Given the description of an element on the screen output the (x, y) to click on. 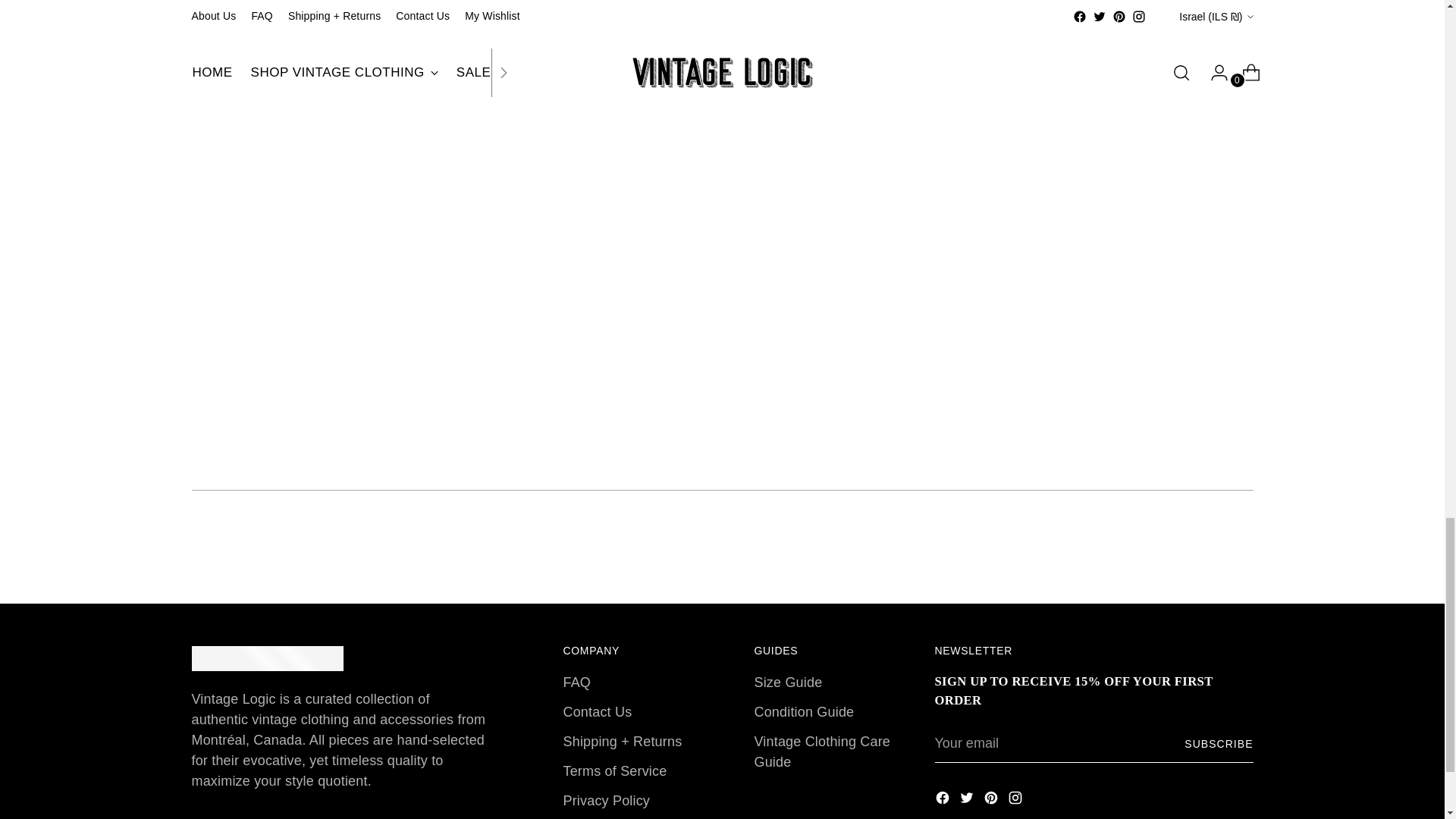
Vintage Logic on Instagram (1016, 800)
Vintage Logic on Facebook (943, 800)
Vintage Logic on Twitter (967, 800)
Vintage Logic on Pinterest (991, 800)
